Given the description of an element on the screen output the (x, y) to click on. 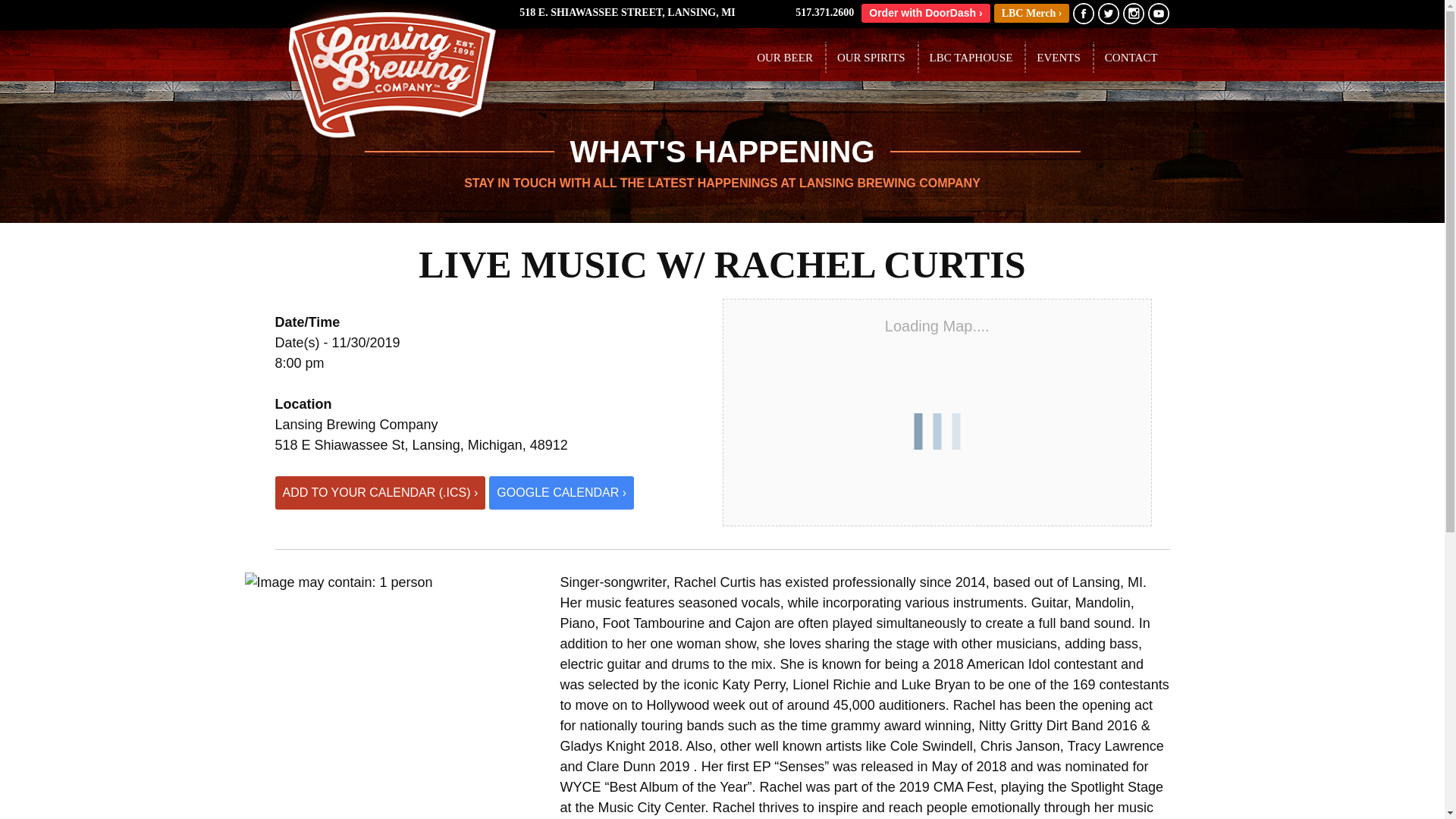
Facebook (1083, 13)
CONTACT (1131, 57)
Twitter (1108, 13)
Lansing Brewing Company (388, 138)
Opens in a new window (1032, 13)
OUR BEER (784, 57)
Opens in a new window (925, 13)
EVENTS (1059, 57)
Opens in a new window (627, 12)
LBC TAPHOUSE (971, 57)
Instagram (1133, 13)
517.371.2600 (822, 10)
OUR SPIRITS (871, 57)
518 E. SHIAWASSEE STREET, LANSING, MI (627, 12)
Lansing Brewing Company (388, 71)
